Given the description of an element on the screen output the (x, y) to click on. 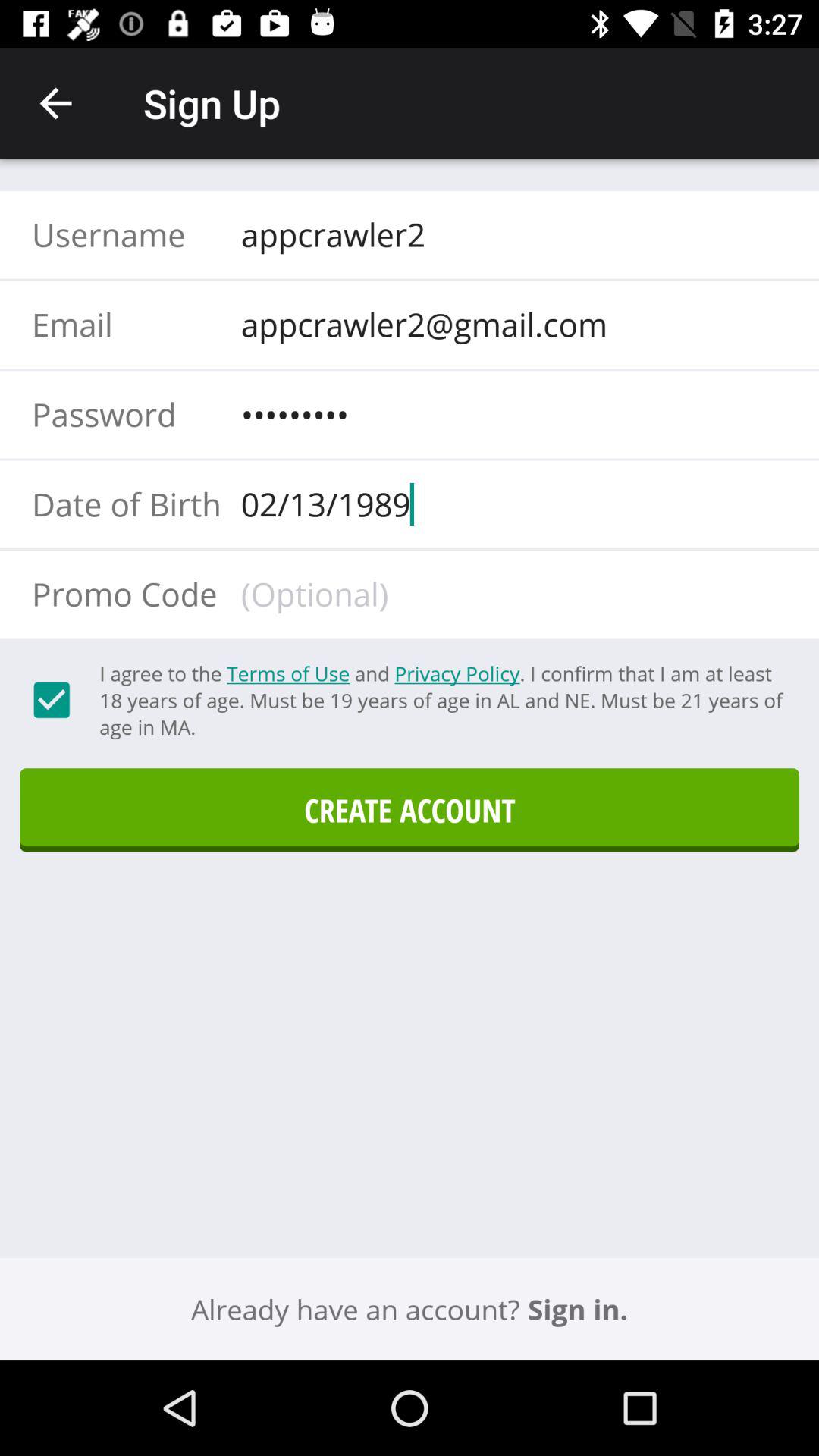
tap the icon below appcrawler2 item (508, 324)
